Given the description of an element on the screen output the (x, y) to click on. 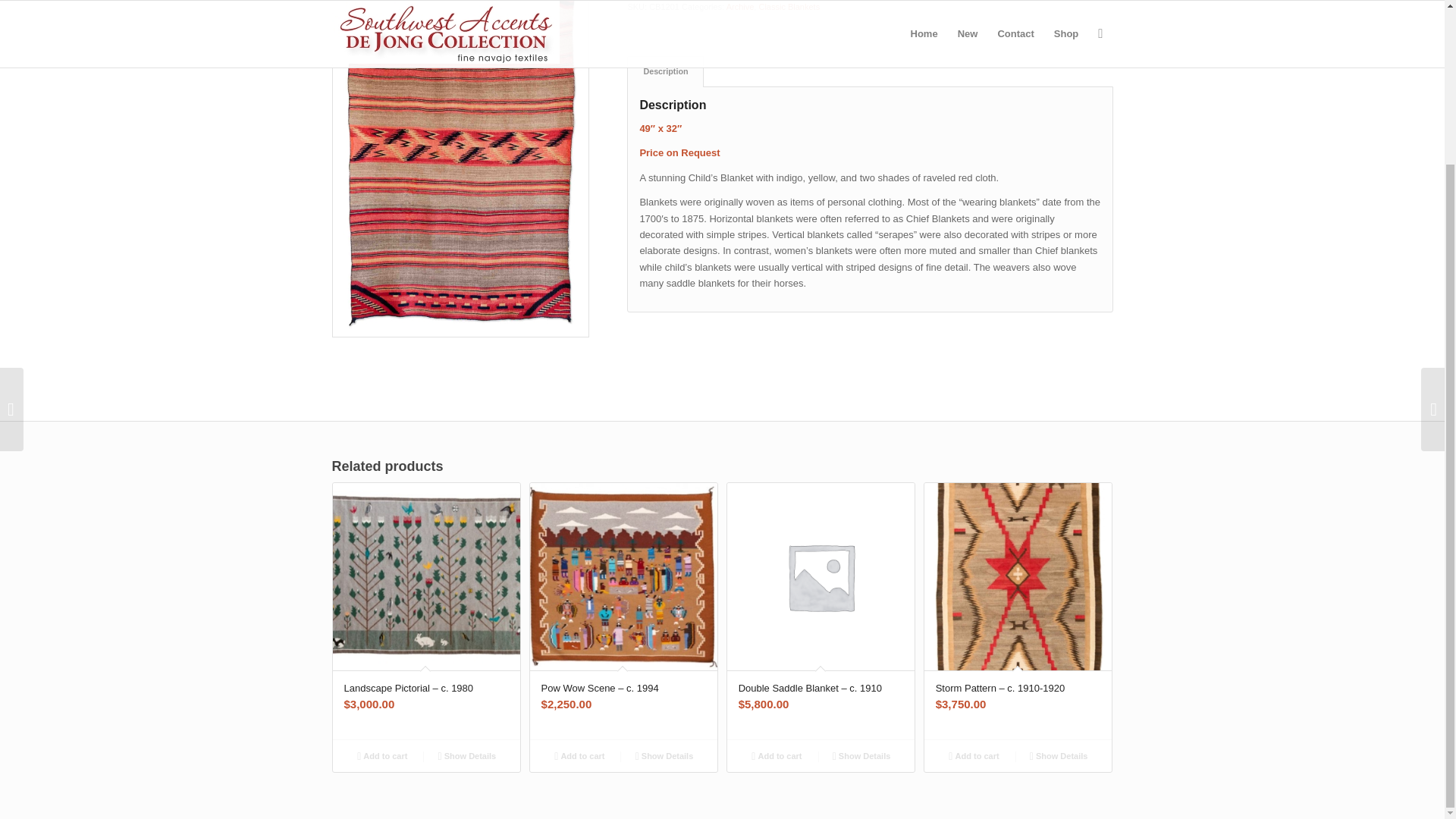
Show Details (467, 755)
Add to cart (777, 755)
Description (665, 71)
Show Details (861, 755)
Show Details (1058, 755)
Add to cart (382, 755)
Add to cart (973, 755)
Archive (740, 6)
Description (665, 71)
Classic Blankets (788, 6)
Show Details (663, 755)
Add to cart (580, 755)
